Given the description of an element on the screen output the (x, y) to click on. 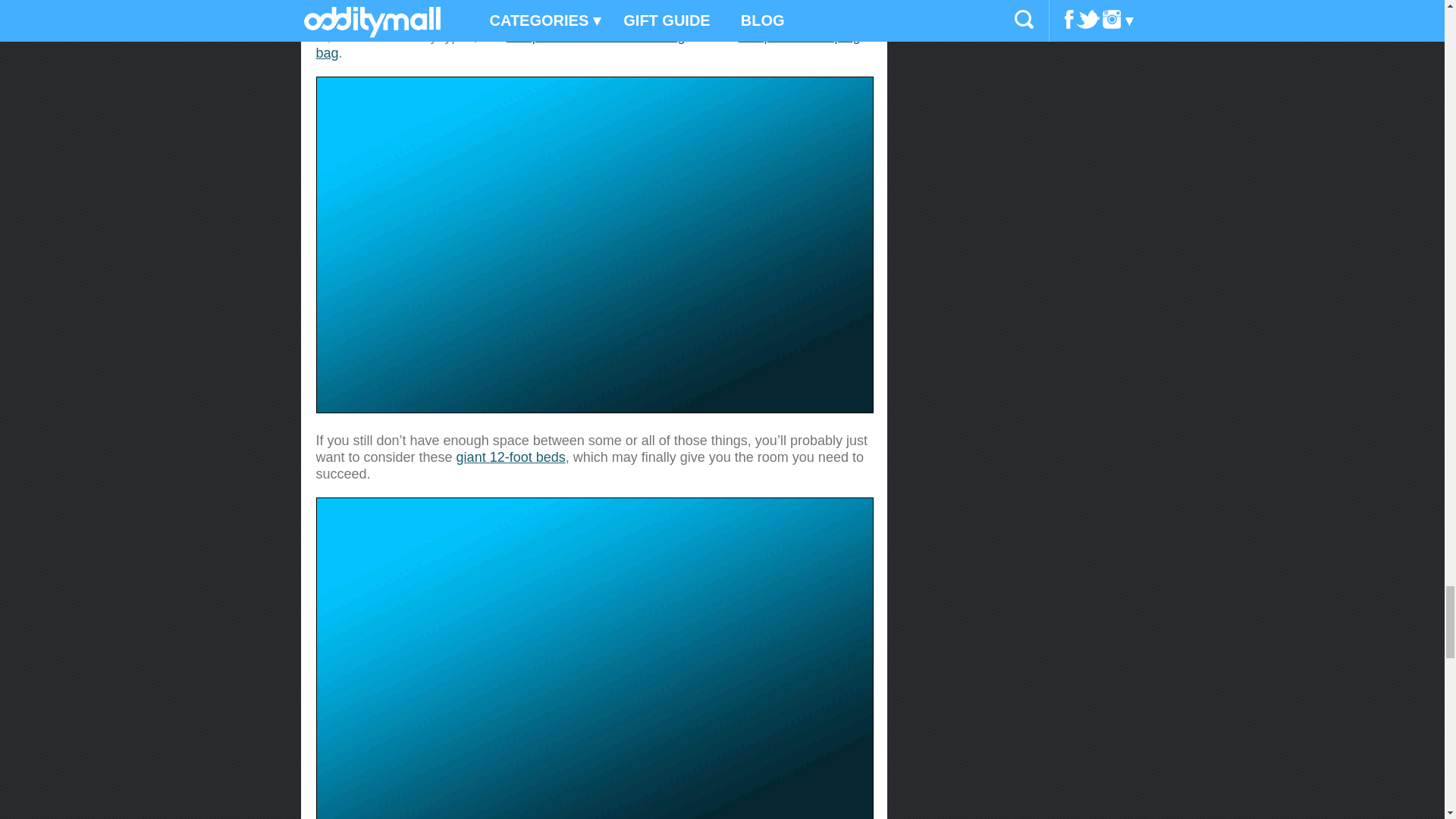
two-person ugly Christmas sweater (747, 19)
two-person sleeping bag (587, 44)
compartmentalized duffel bag (595, 36)
two-person toilet (390, 19)
giant 12-foot beds (511, 457)
